Given the description of an element on the screen output the (x, y) to click on. 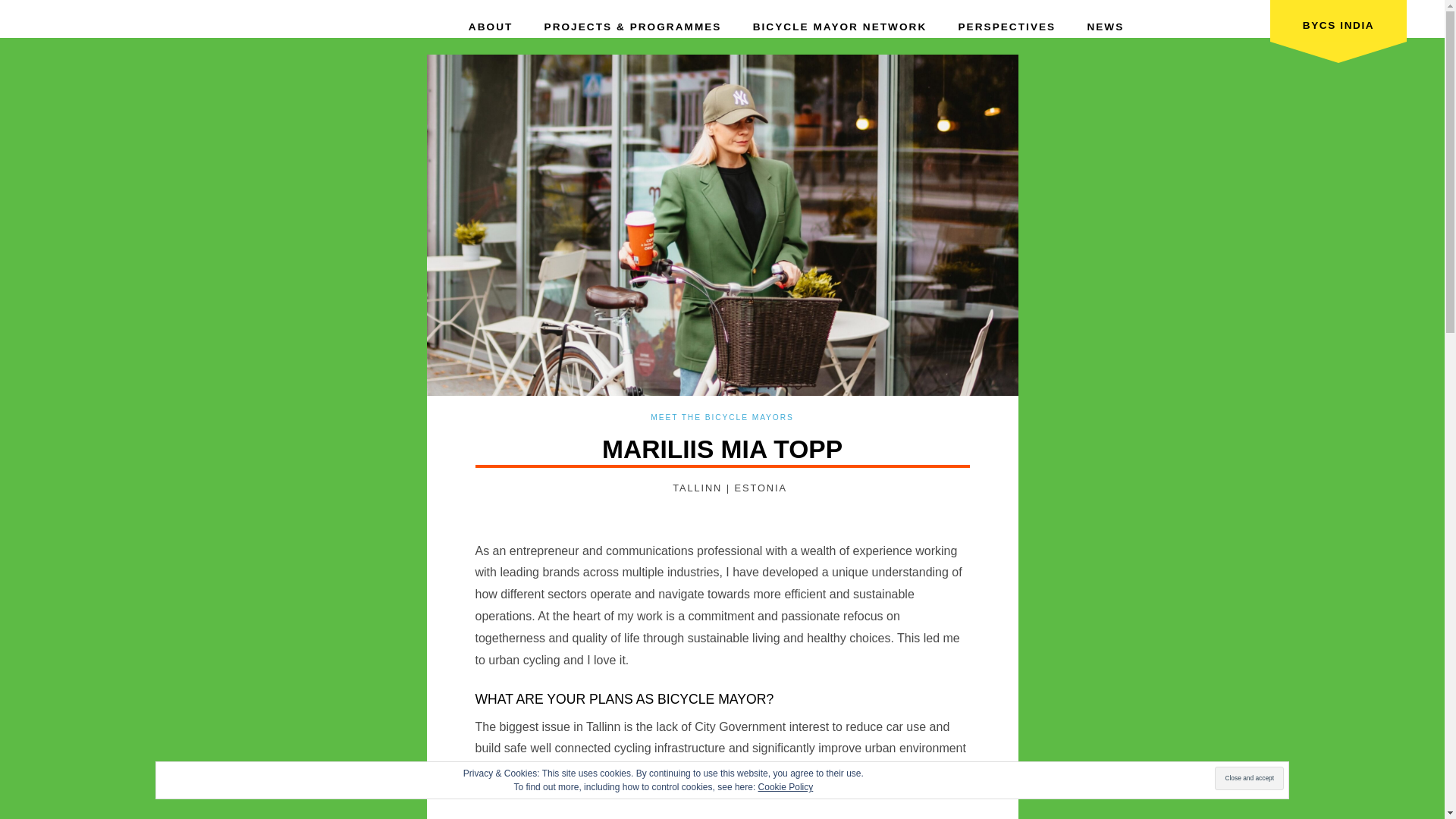
PERSPECTIVES (1006, 20)
BICYCLE MAYOR NETWORK (839, 20)
MEET THE BICYCLE MAYORS (721, 417)
BYCS INDIA (1338, 30)
Close and accept (1249, 778)
ABOUT (490, 20)
NEWS (1105, 20)
Close and accept (1249, 778)
Cookie Policy (785, 787)
